Given the description of an element on the screen output the (x, y) to click on. 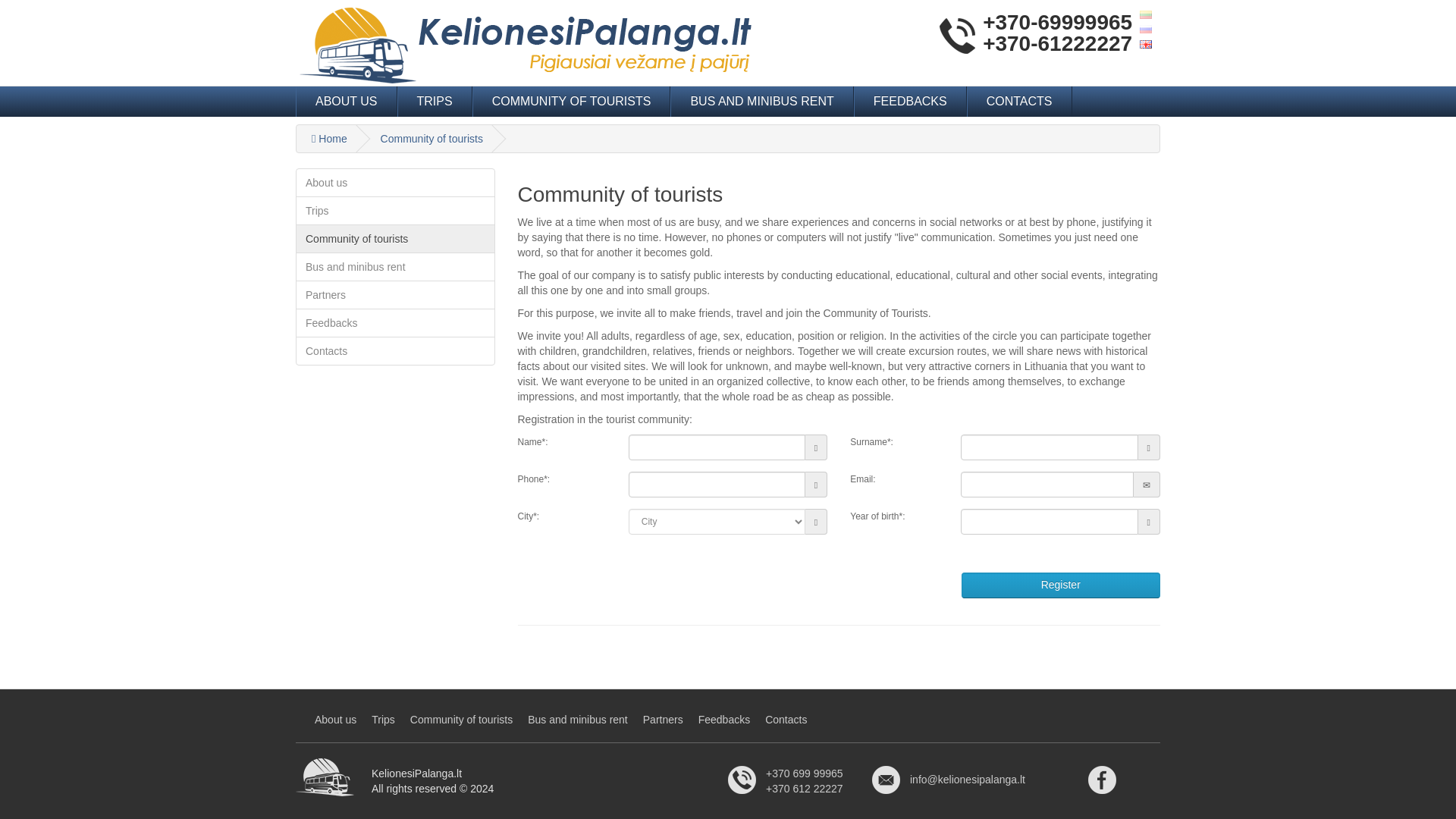
KelionesiPalanga.lt (525, 45)
Community of tourists (431, 138)
About us (395, 182)
Register (1060, 585)
TRIPS (434, 101)
CONTACTS (1018, 101)
FEEDBACKS (909, 101)
ABOUT US (346, 101)
Contacts (395, 350)
City (716, 521)
BUS AND MINIBUS RENT (761, 101)
Trips (395, 210)
Partners (395, 294)
Feedbacks (395, 322)
Bus and minibus rent (395, 266)
